Given the description of an element on the screen output the (x, y) to click on. 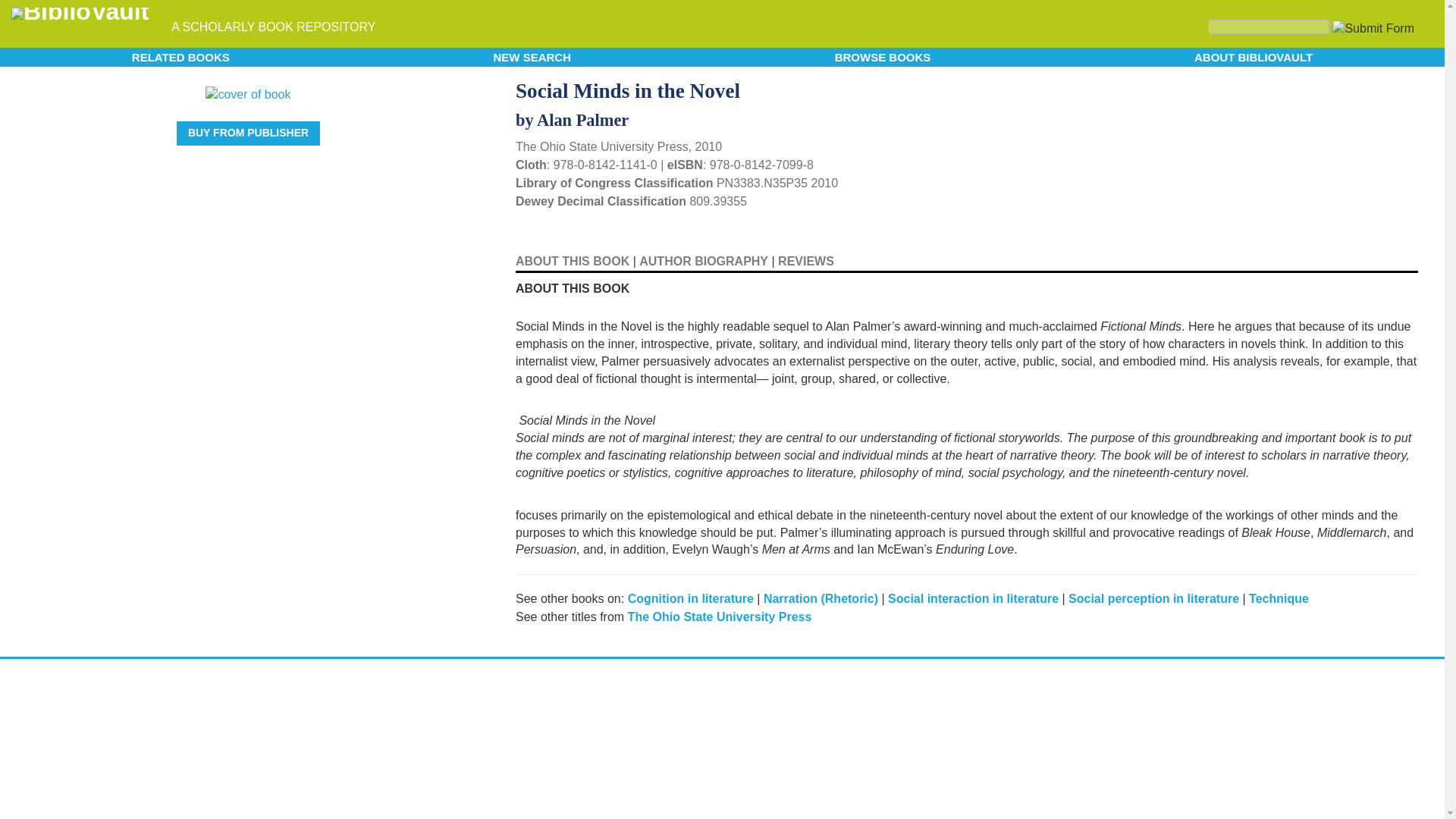
Share on Facebook (1384, 90)
NEW SEARCH (532, 56)
Cognition in literature (690, 598)
Share on Twitter (1358, 86)
BUY FROM PUBLISHER (248, 133)
Social interaction in literature (973, 598)
BROWSE BOOKS (882, 56)
Search (1268, 26)
Send as an email (1404, 87)
RELATED BOOKS (180, 56)
